Given the description of an element on the screen output the (x, y) to click on. 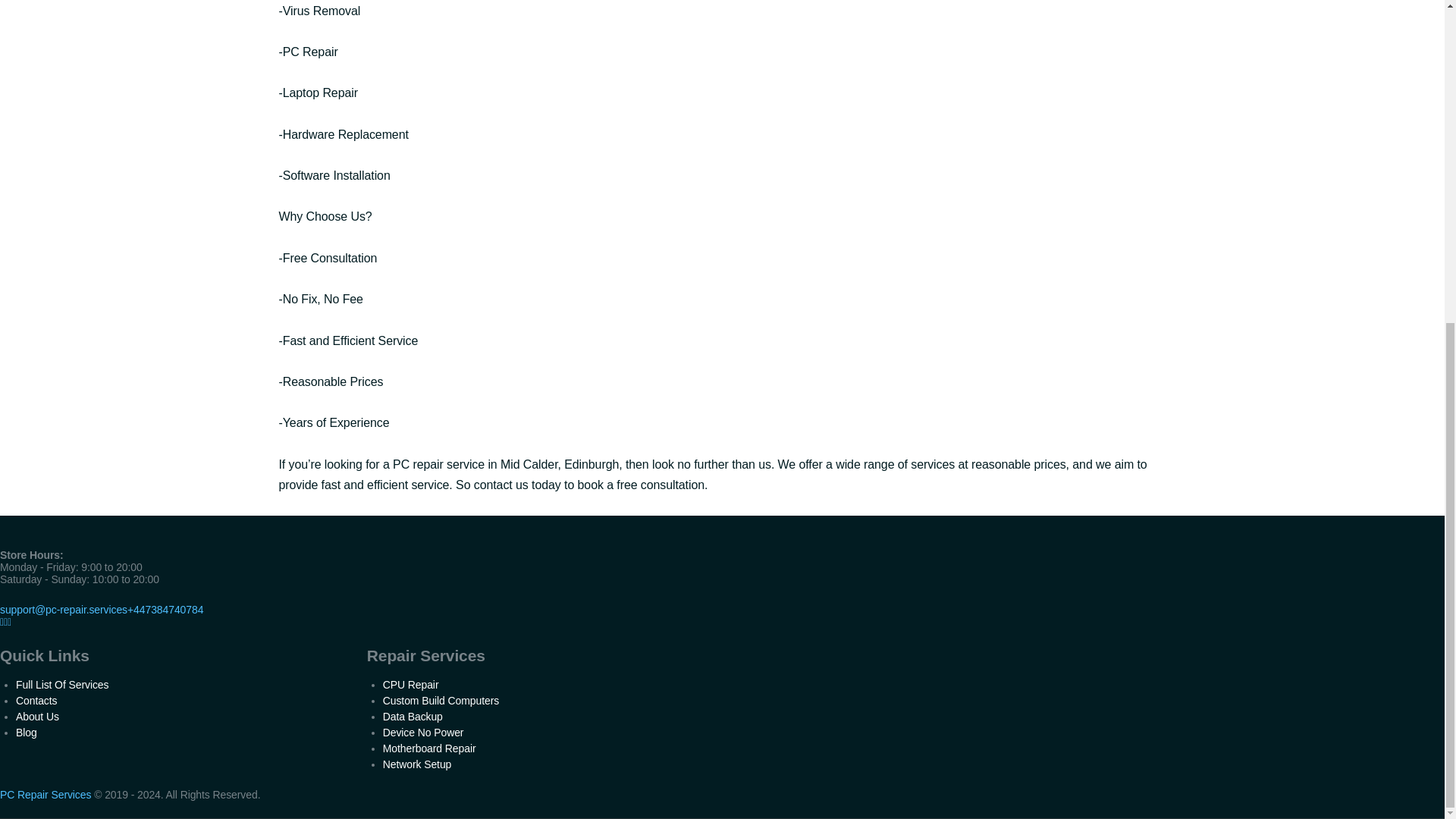
Device No Power (423, 732)
Contacts (36, 700)
Blog (26, 732)
CPU Repair (410, 684)
About Us (37, 716)
Motherboard Repair (429, 748)
Full List Of Services (61, 684)
Data Backup (412, 716)
Custom Build Computers (440, 700)
